Given the description of an element on the screen output the (x, y) to click on. 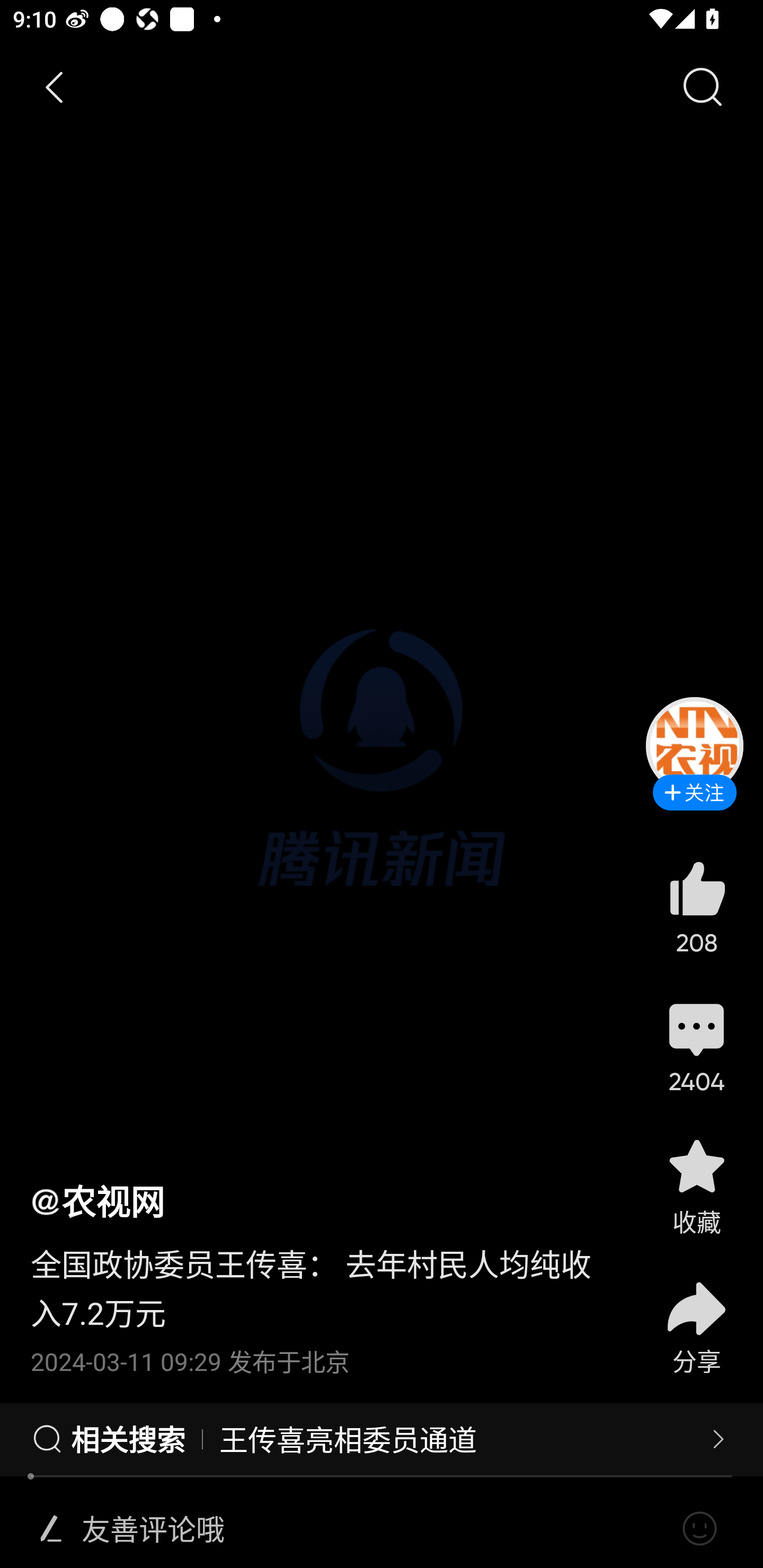
 返回 (54, 87)
 搜索 (701, 87)
赞 208 (696, 906)
评论  2404 (696, 1045)
收藏 (696, 1184)
农视网 (97, 1200)
全国政协委员王传喜： 去年村民人均纯收入7.2万元 2024-03-11 09:29 发布于北京 (321, 1300)
分享  分享 (696, 1315)
相关搜索 王传喜亮相委员通道  (381, 1440)
友善评论哦 发表评论 (373, 1529)
 (50, 1528)
 (699, 1528)
